Given the description of an element on the screen output the (x, y) to click on. 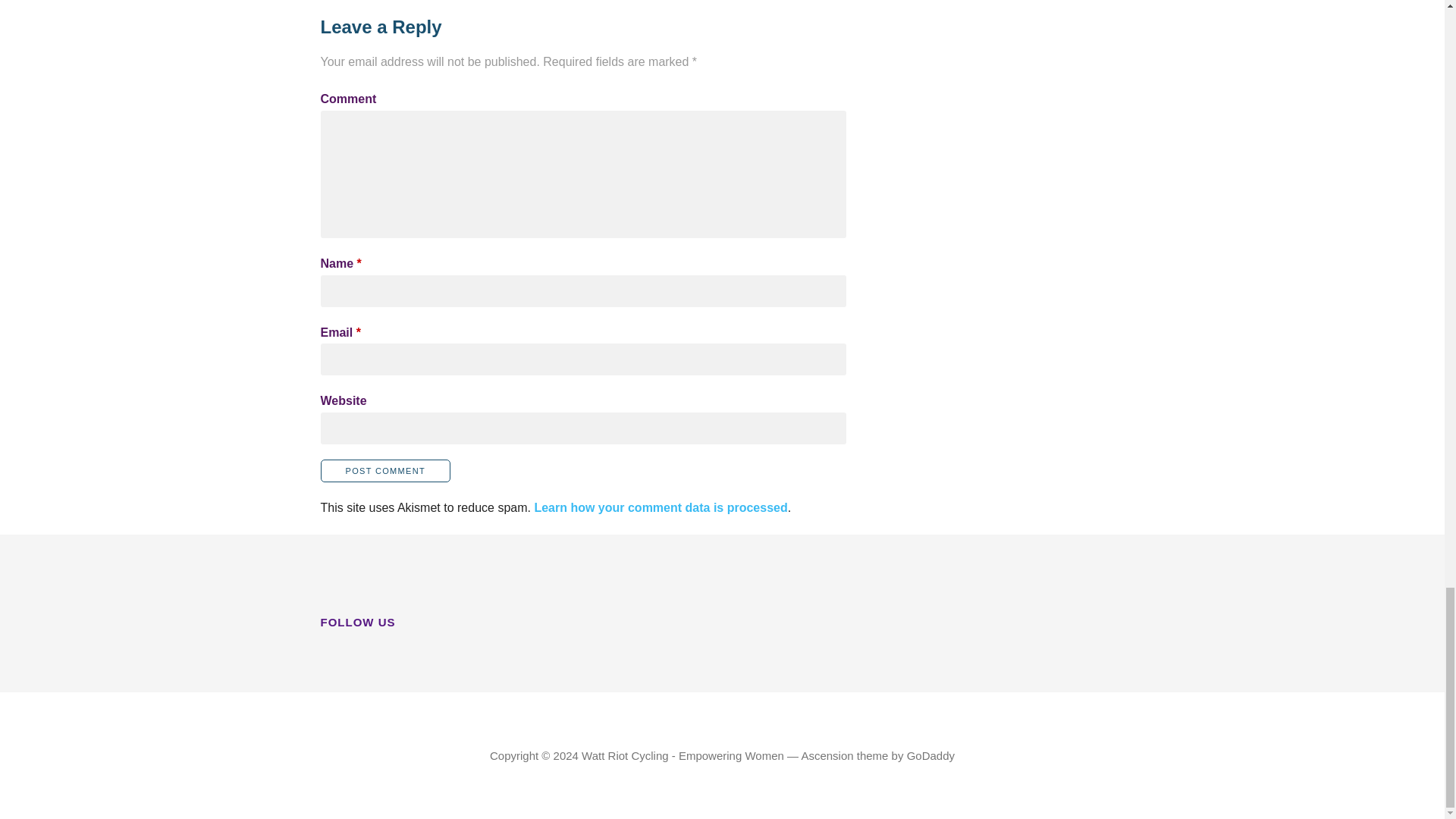
Post Comment (384, 470)
Post Comment (384, 470)
Learn how your comment data is processed (660, 507)
